Given the description of an element on the screen output the (x, y) to click on. 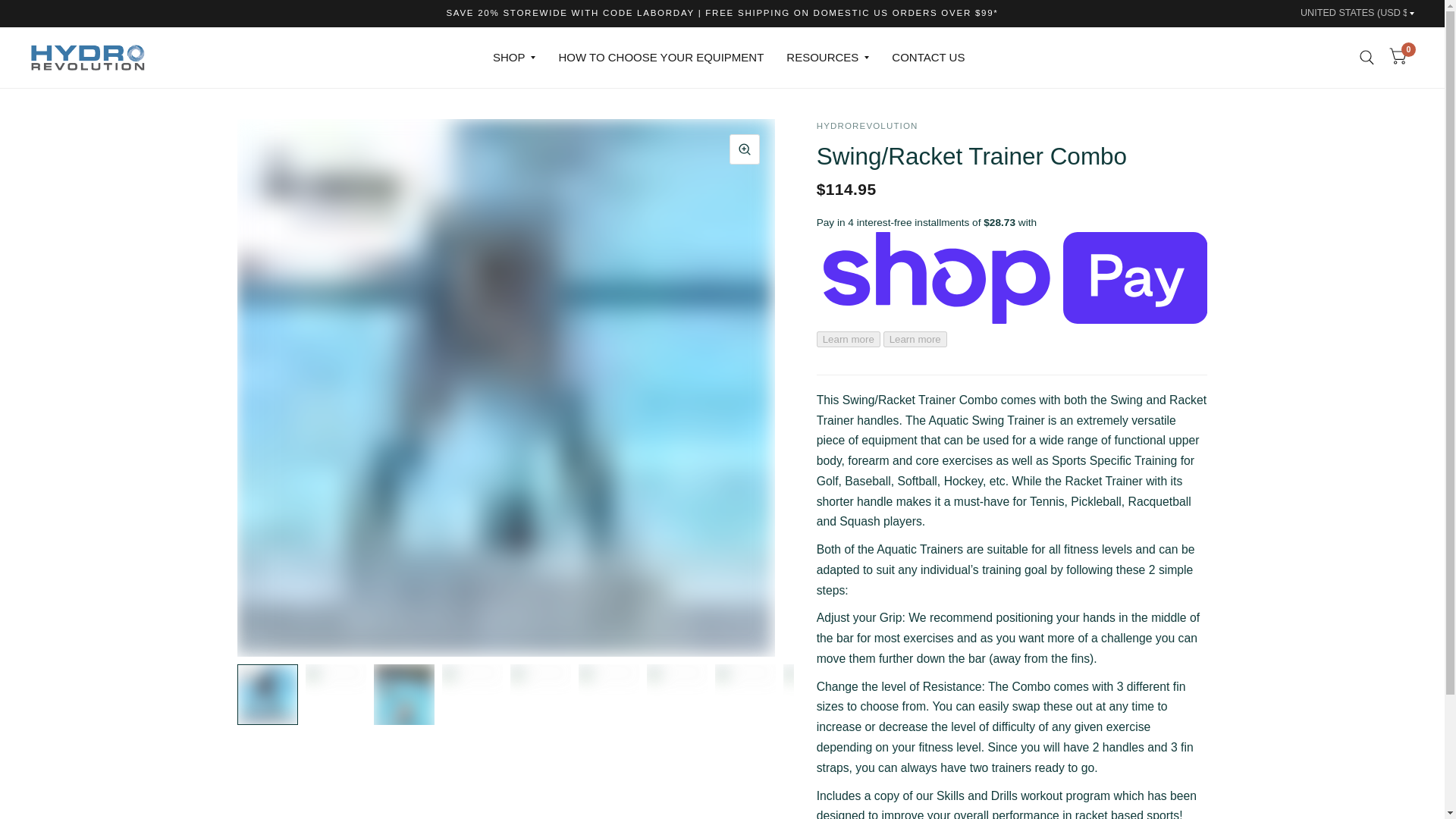
SHOP (514, 57)
SHOP (514, 57)
CONTACT US (927, 57)
HOW TO CHOOSE YOUR EQUIPMENT (659, 57)
HOW TO CHOOSE YOUR EQUIPMENT (659, 57)
RESOURCES (827, 57)
